Given the description of an element on the screen output the (x, y) to click on. 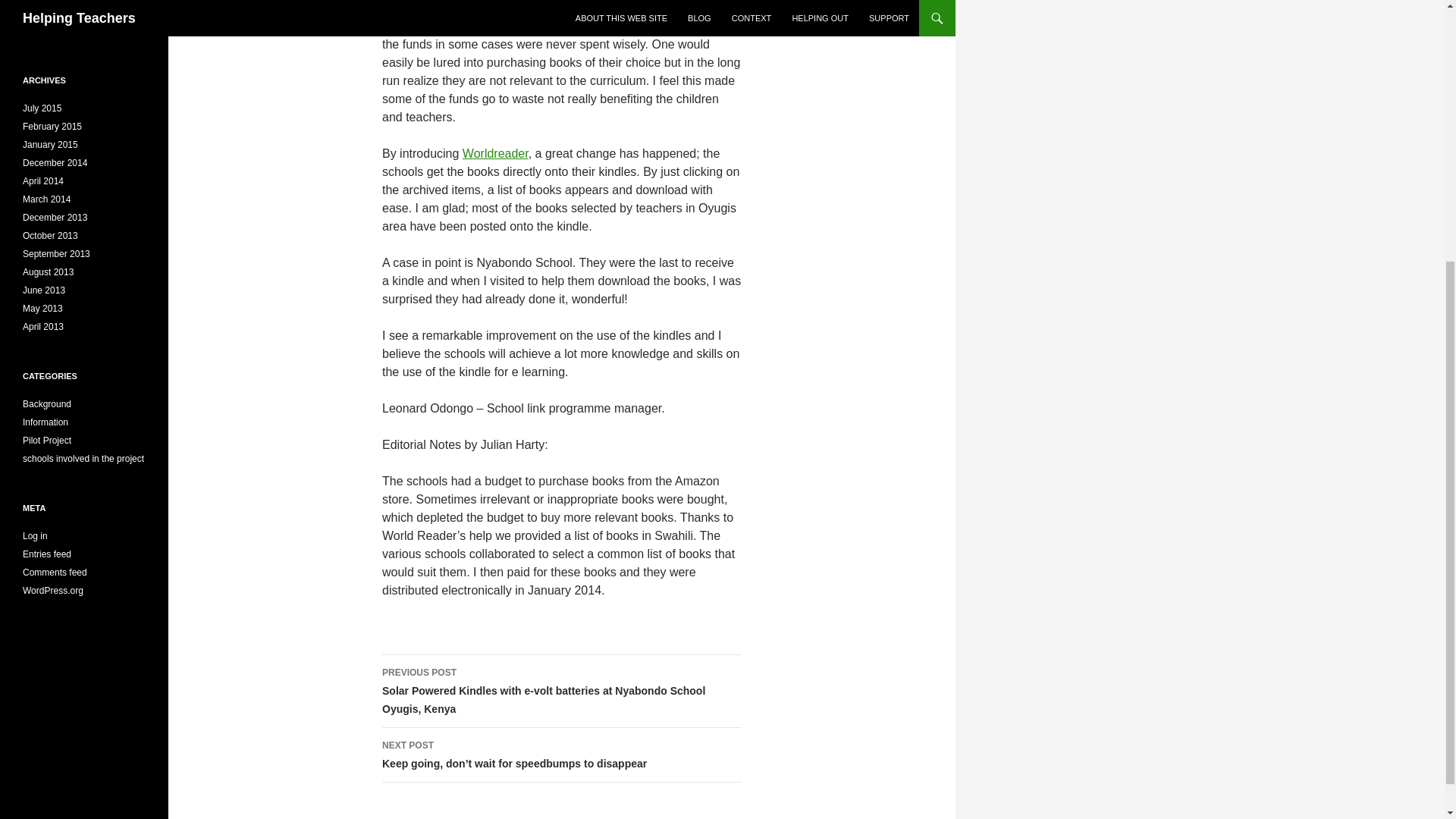
October 2013 (50, 235)
April 2013 (43, 326)
Link to the World Reader web site (495, 153)
June 2013 (44, 290)
September 2013 (56, 253)
Background (47, 403)
Pilot Project (47, 439)
Parallel Paths (80, 24)
January 2015 (50, 144)
